Given the description of an element on the screen output the (x, y) to click on. 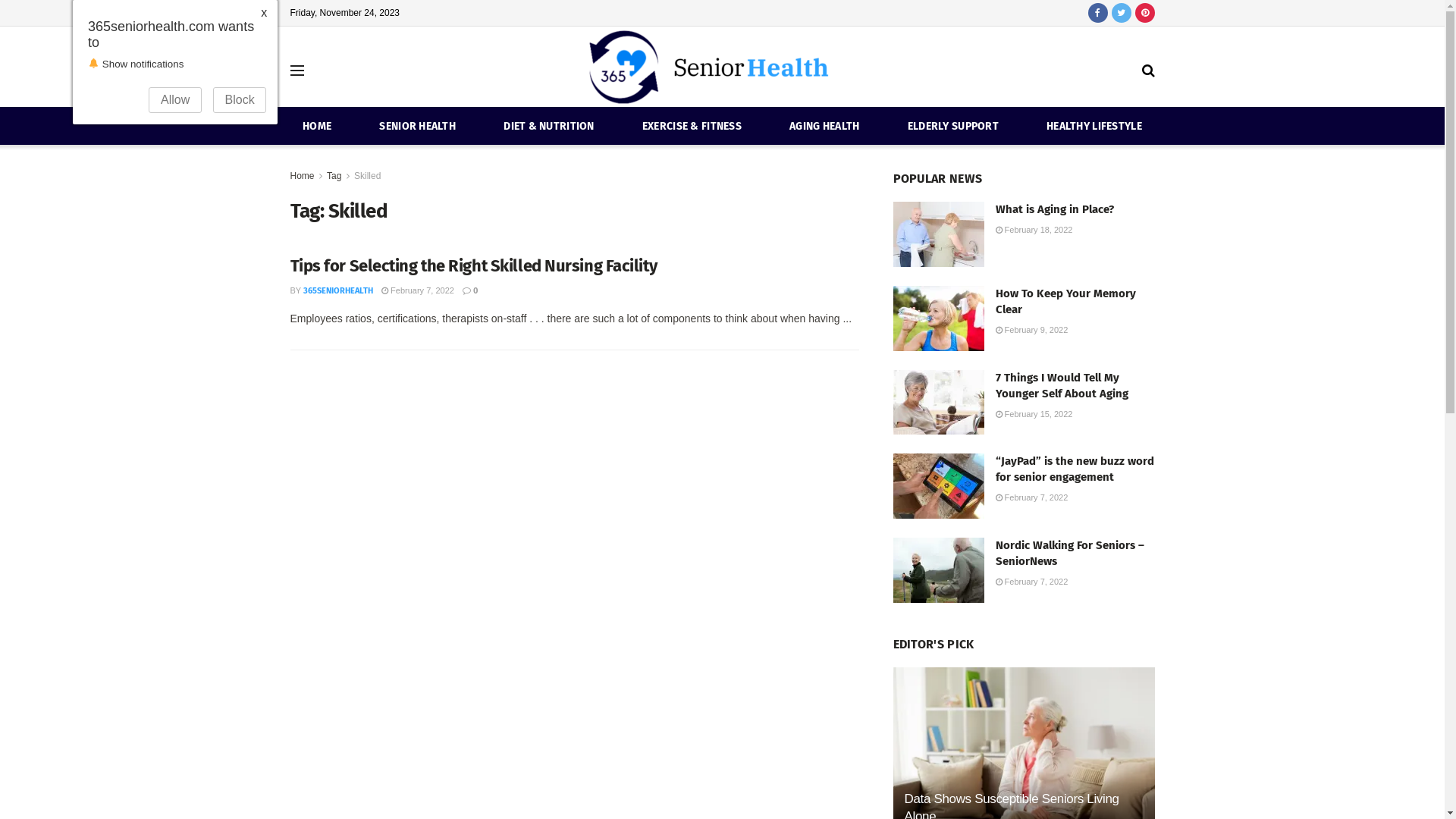
Skilled Element type: text (367, 175)
EXERCISE & FITNESS Element type: text (691, 126)
7 Things I Would Tell My Younger Self About Aging Element type: text (1060, 385)
HOME Element type: text (316, 126)
SENIOR HEALTH Element type: text (417, 126)
February 7, 2022 Element type: text (1030, 497)
February 15, 2022 Element type: text (1033, 413)
0 Element type: text (469, 290)
How To Keep Your Memory Clear Element type: text (1064, 301)
Tag Element type: text (333, 175)
February 7, 2022 Element type: text (1030, 581)
DIET & NUTRITION Element type: text (548, 126)
AGING HEALTH Element type: text (824, 126)
What is Aging in Place? Element type: text (1053, 209)
ELDERLY SUPPORT Element type: text (952, 126)
Tips for Selecting the Right Skilled Nursing Facility Element type: text (472, 265)
February 7, 2022 Element type: text (417, 289)
February 18, 2022 Element type: text (1033, 229)
365SENIORHEALTH Element type: text (338, 290)
February 9, 2022 Element type: text (1030, 329)
Block Element type: text (239, 99)
Allow Element type: text (174, 99)
HEALTHY LIFESTYLE Element type: text (1094, 126)
Home Element type: text (301, 175)
